Given the description of an element on the screen output the (x, y) to click on. 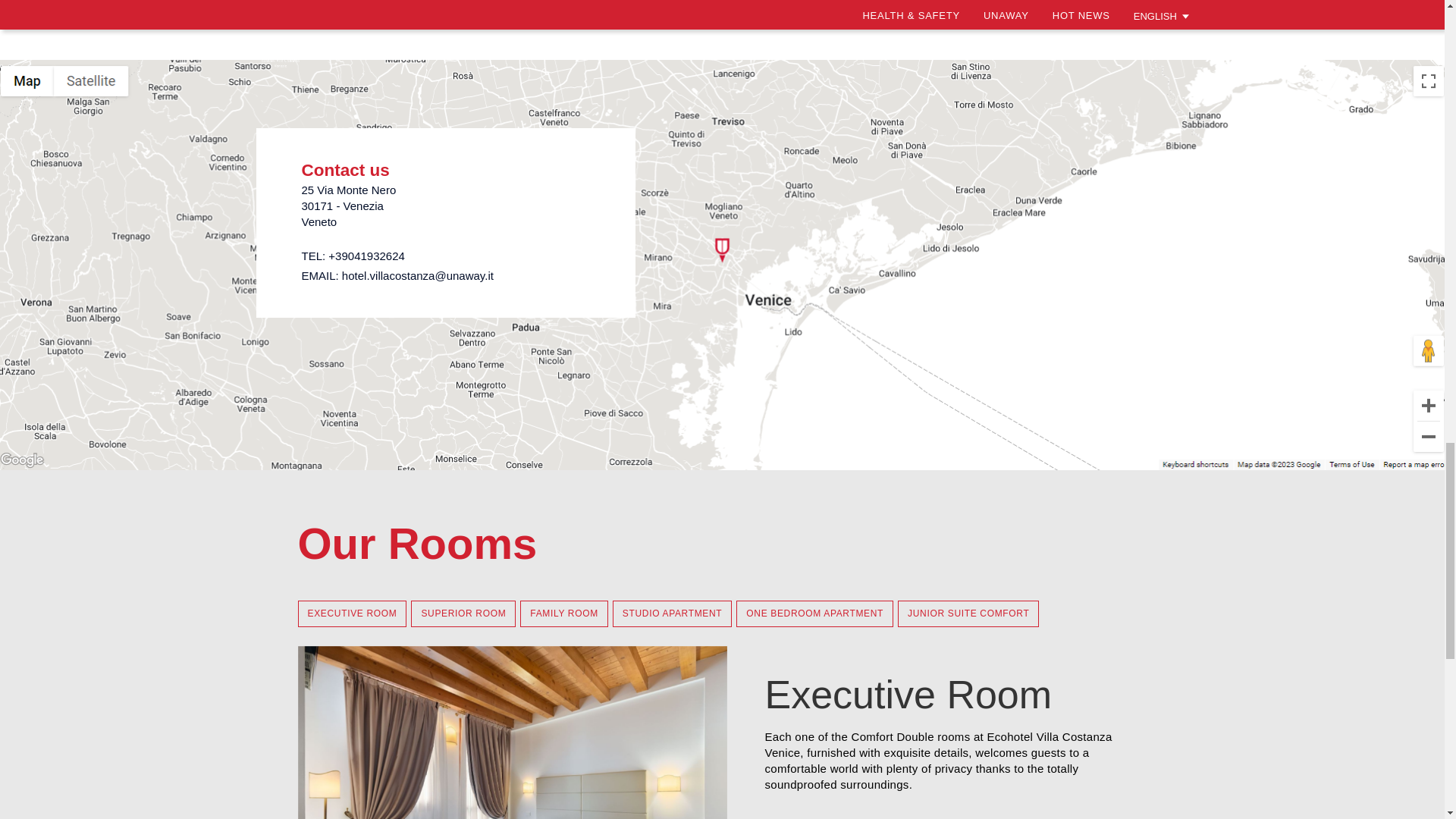
ONE BEDROOM APARTMENT (814, 613)
EXECUTIVE ROOM (351, 613)
STUDIO APARTMENT (672, 613)
SUPERIOR ROOM (462, 613)
JUNIOR SUITE COMFORT (968, 613)
FAMILY ROOM (563, 613)
uw-ecohotelvillacostanzavenezia-mestre-doubletwincomfortroom (511, 732)
